Given the description of an element on the screen output the (x, y) to click on. 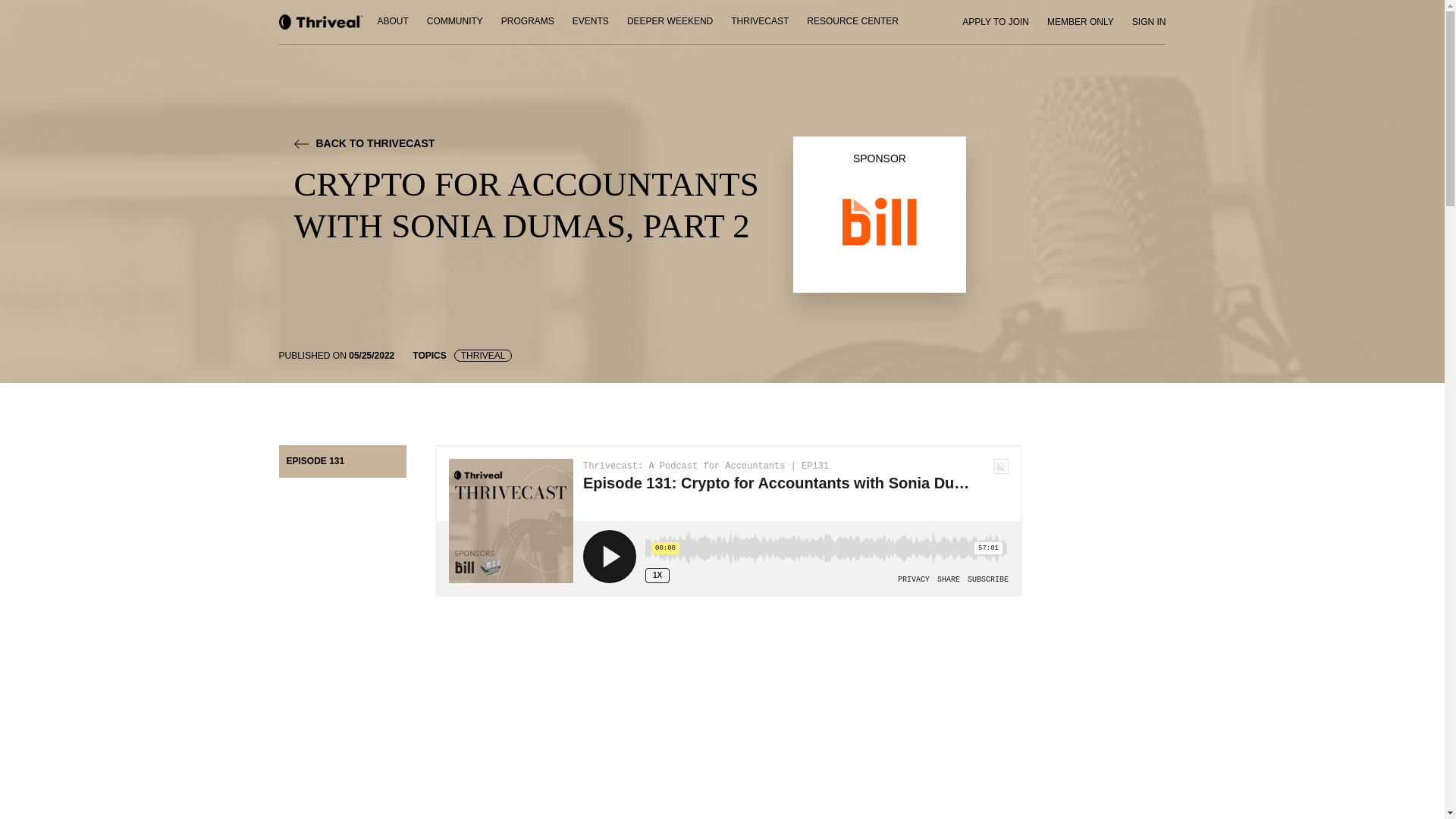
ABOUT (392, 22)
MEMBER ONLY (1080, 20)
PROGRAMS (527, 22)
BACK TO THRIVECAST (543, 143)
THRIVECAST (759, 22)
COMMUNITY (454, 22)
THRIVEAL (483, 355)
RESOURCE CENTER (852, 22)
APPLY TO JOIN (995, 20)
Episode 131: Crypto for Accountants with Sonia Dumas, Part 2 (728, 733)
